Given the description of an element on the screen output the (x, y) to click on. 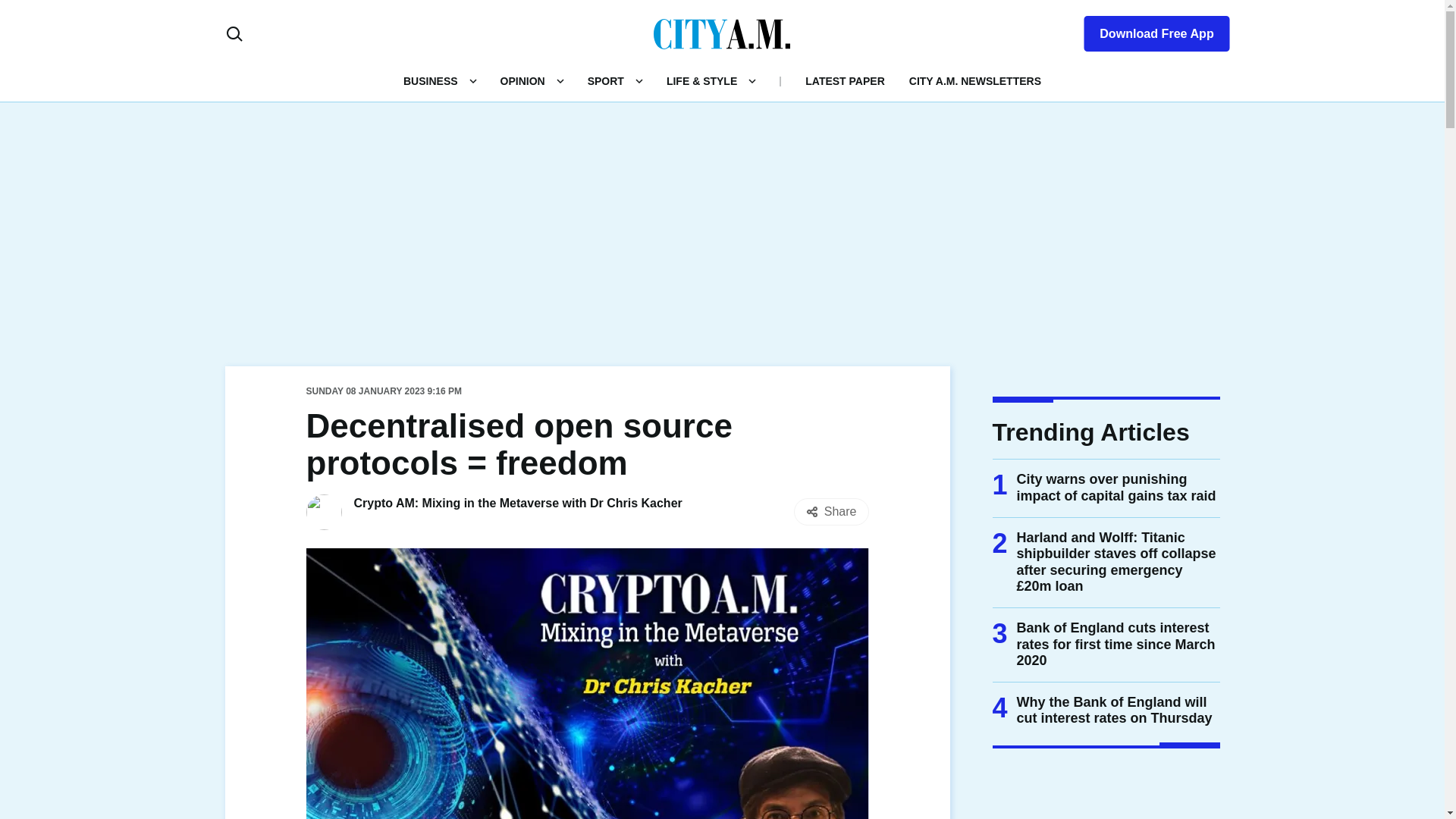
CityAM (721, 33)
OPINION (522, 80)
BUSINESS (430, 80)
Download Free App (1146, 30)
SPORT (606, 80)
